Given the description of an element on the screen output the (x, y) to click on. 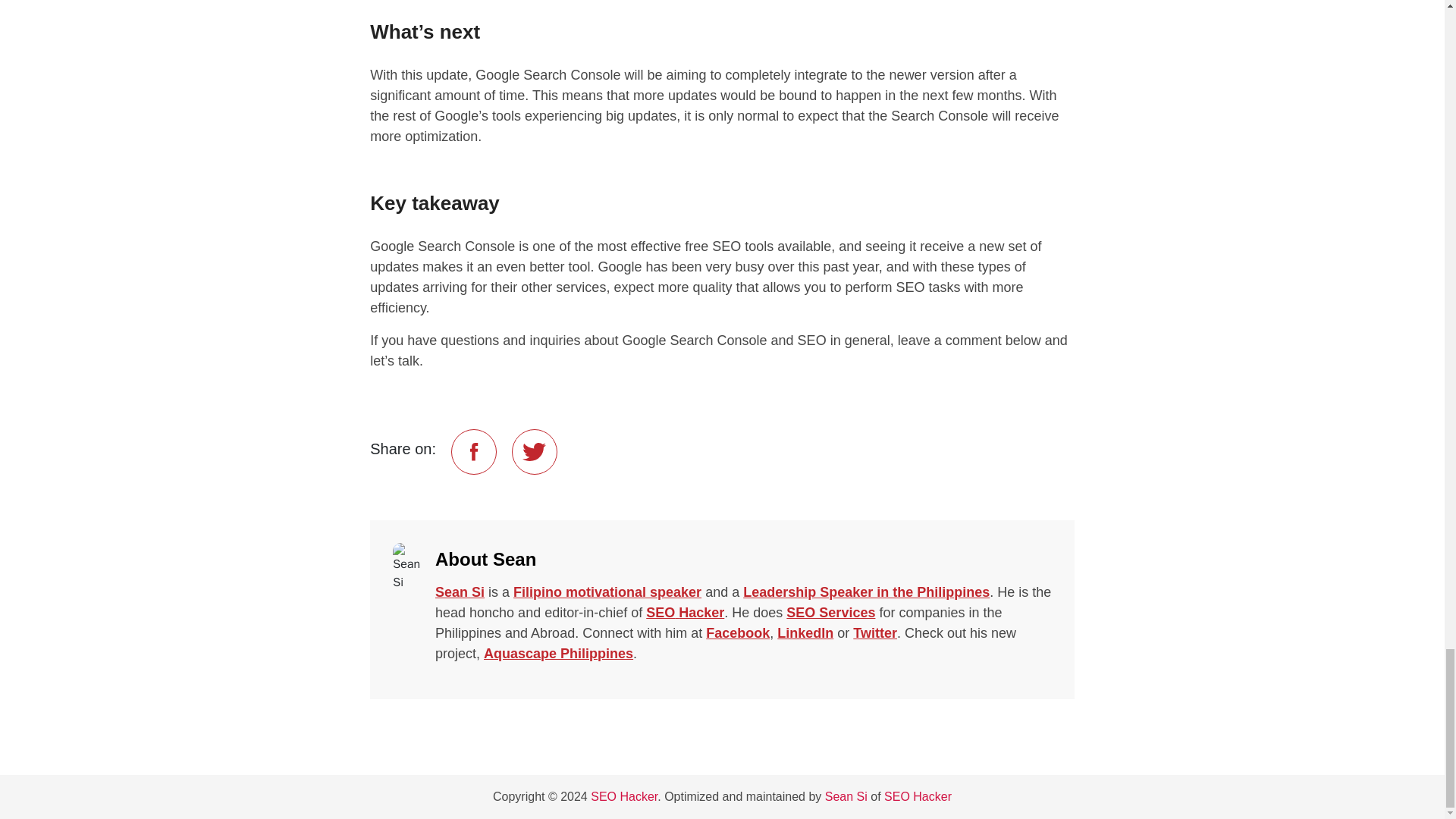
Leadership speaker Philippines (866, 591)
SEO Philippines (830, 612)
SEO Hacker Blog (624, 796)
Filipino motivational speaker (607, 591)
Sean Si Twitter Page (874, 632)
SEO in Simple Terms (684, 612)
Sean Si LinkedIn (804, 632)
Sean Si Facebook Page (738, 632)
